Given the description of an element on the screen output the (x, y) to click on. 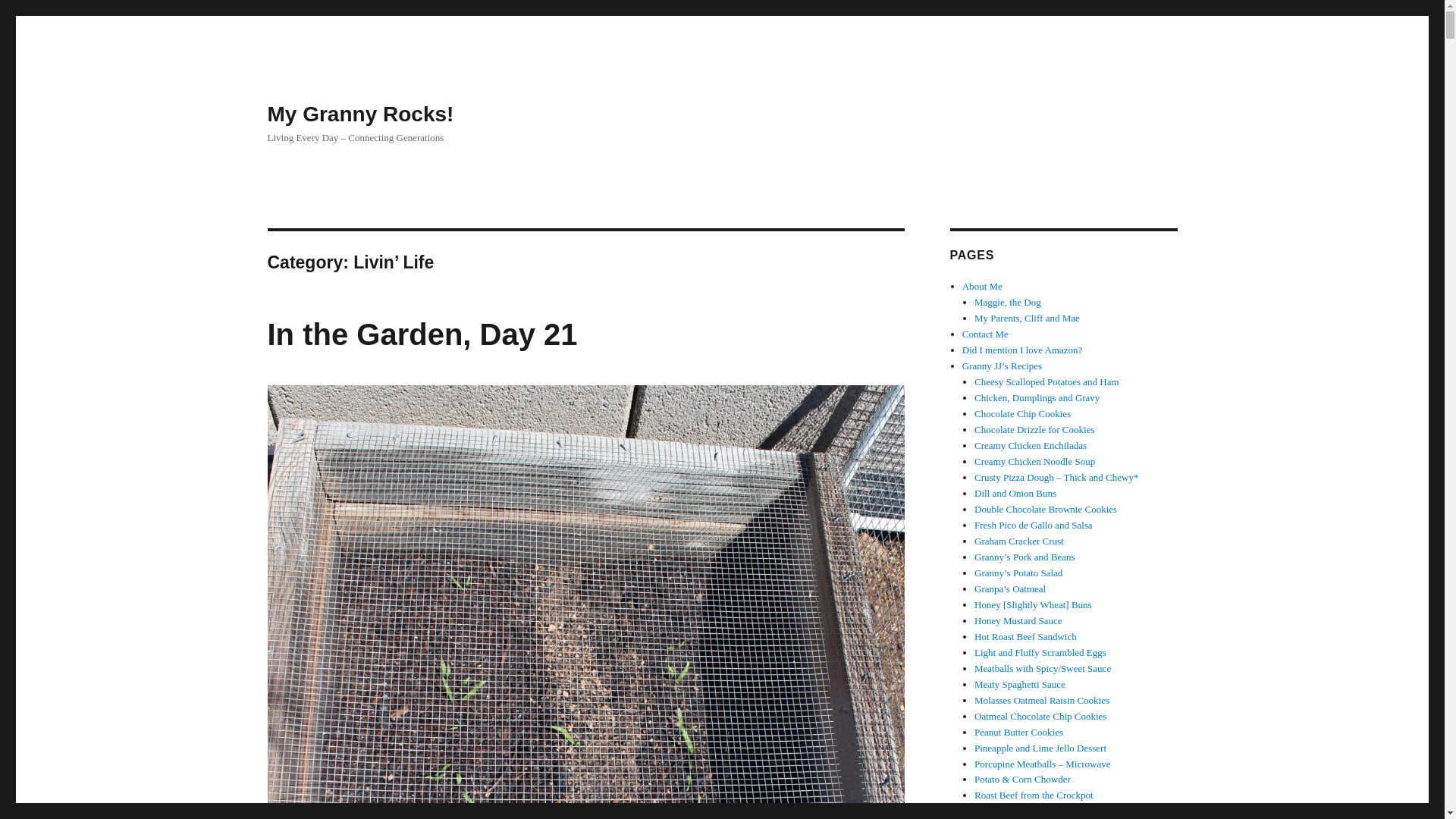
In the Garden, Day 21 (421, 334)
My Granny Rocks! (359, 114)
